Given the description of an element on the screen output the (x, y) to click on. 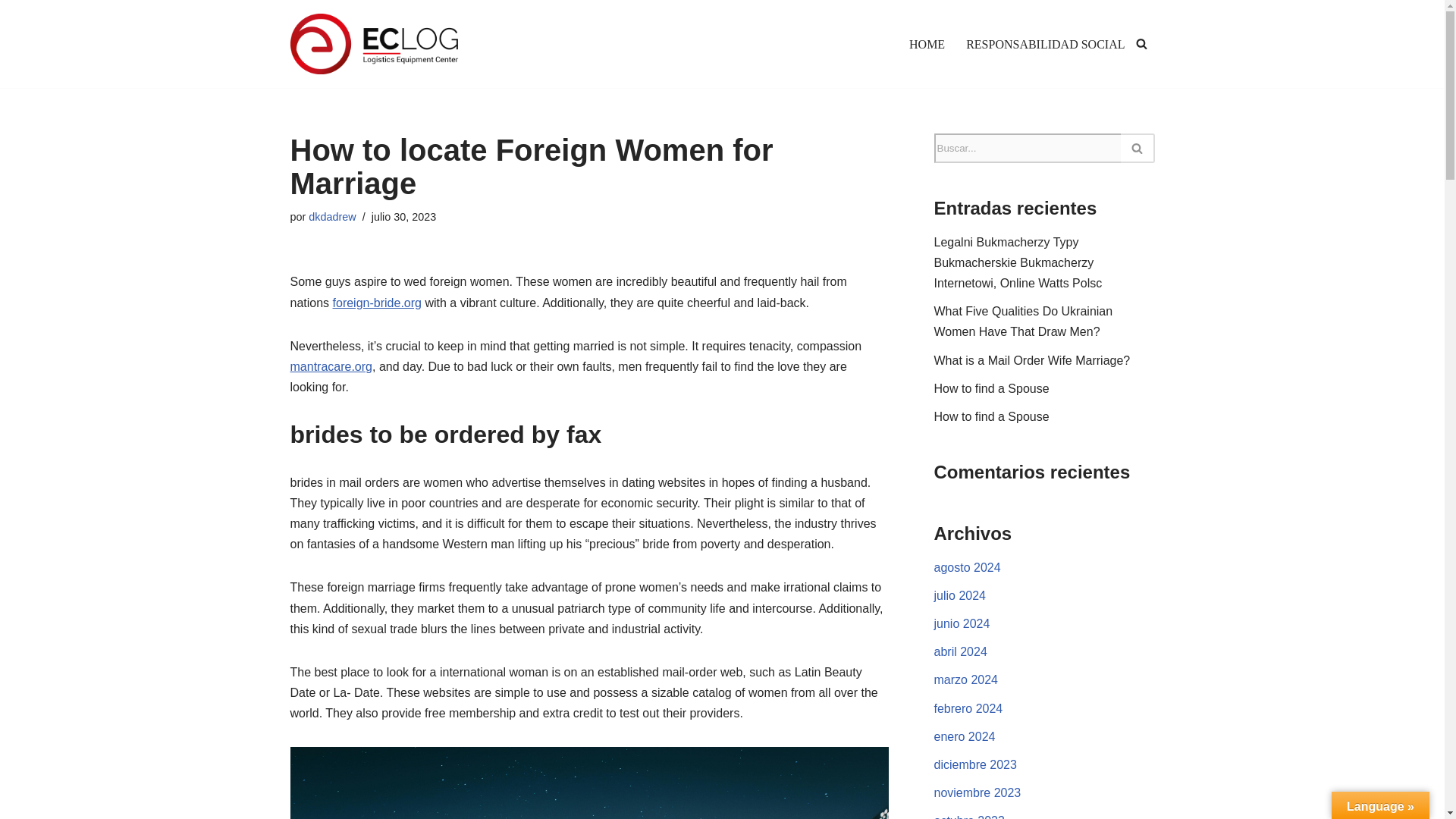
What is a Mail Order Wife Marriage? (1032, 359)
febrero 2024 (968, 707)
How to find a Spouse (991, 416)
How to find a Spouse (991, 388)
Saltar al contenido (11, 31)
octubre 2023 (969, 816)
mantracare.org (330, 366)
HOME (926, 44)
junio 2024 (962, 623)
